Given the description of an element on the screen output the (x, y) to click on. 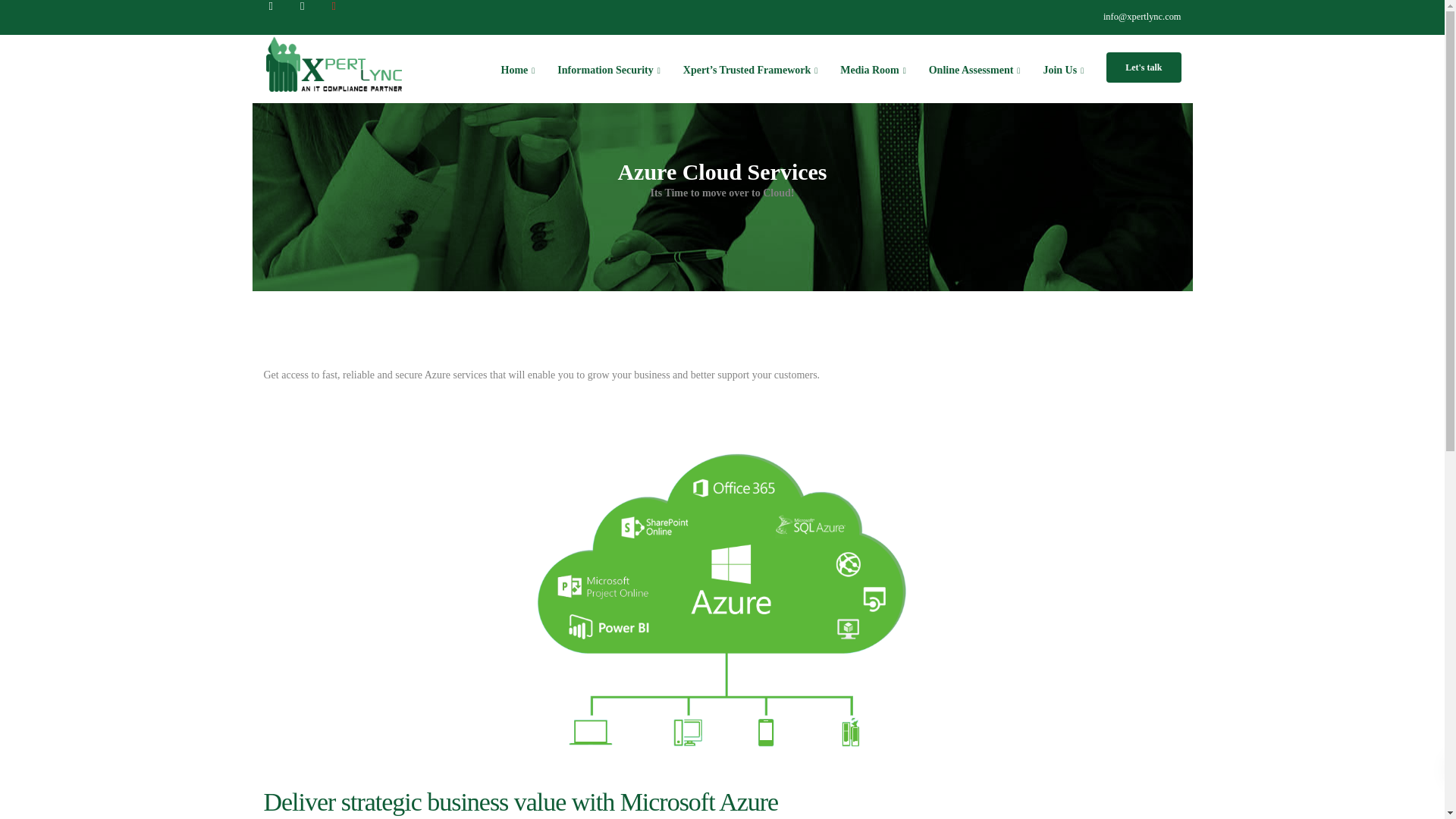
Home (518, 69)
Media Room (872, 69)
Online Assessment (974, 69)
Information Security (608, 69)
Information Security (608, 69)
Join Us (1062, 69)
Home (518, 69)
